Given the description of an element on the screen output the (x, y) to click on. 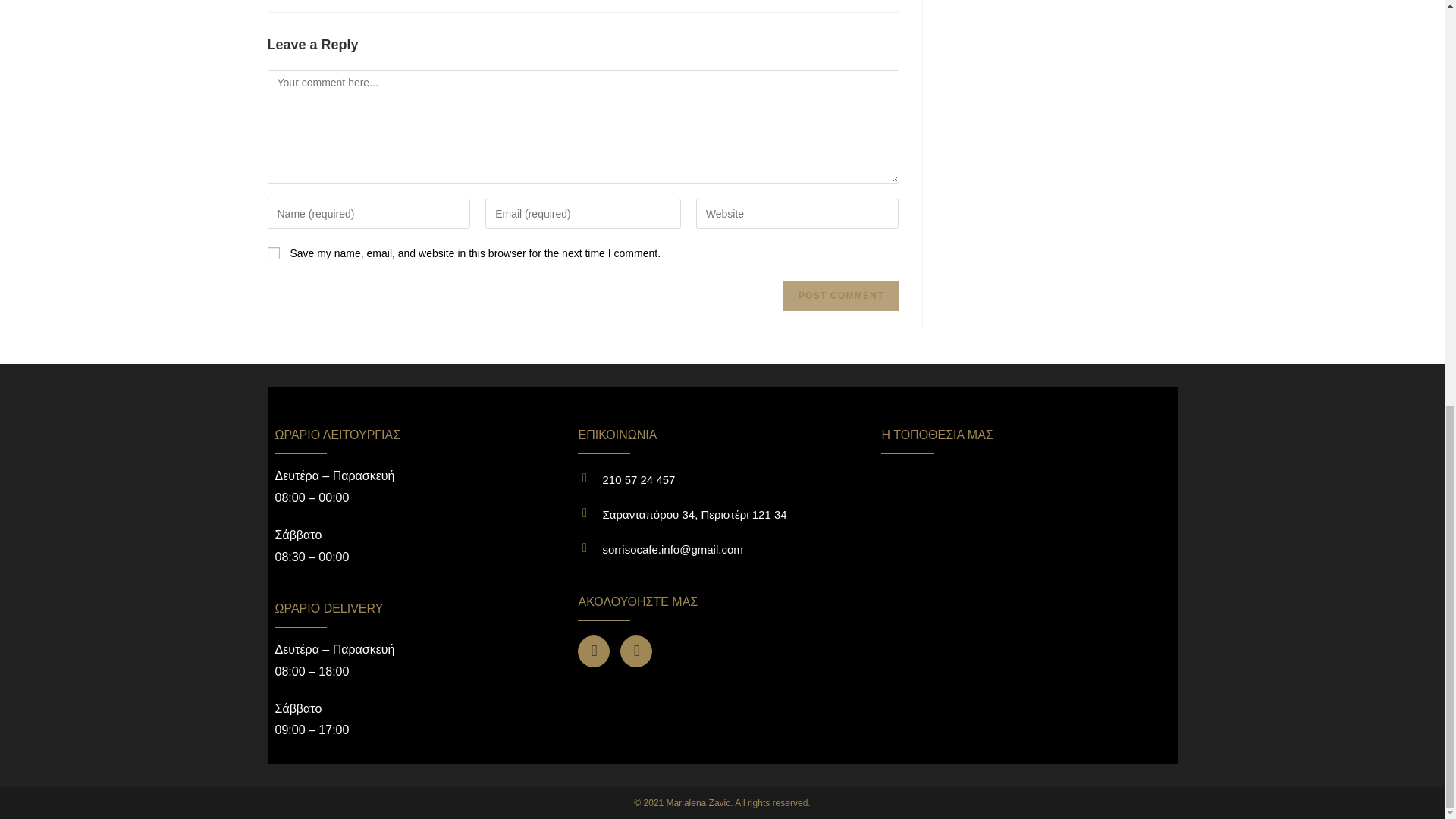
yes (272, 253)
210 57 24 457 (638, 479)
Post Comment (840, 295)
Post Comment (840, 295)
